Given the description of an element on the screen output the (x, y) to click on. 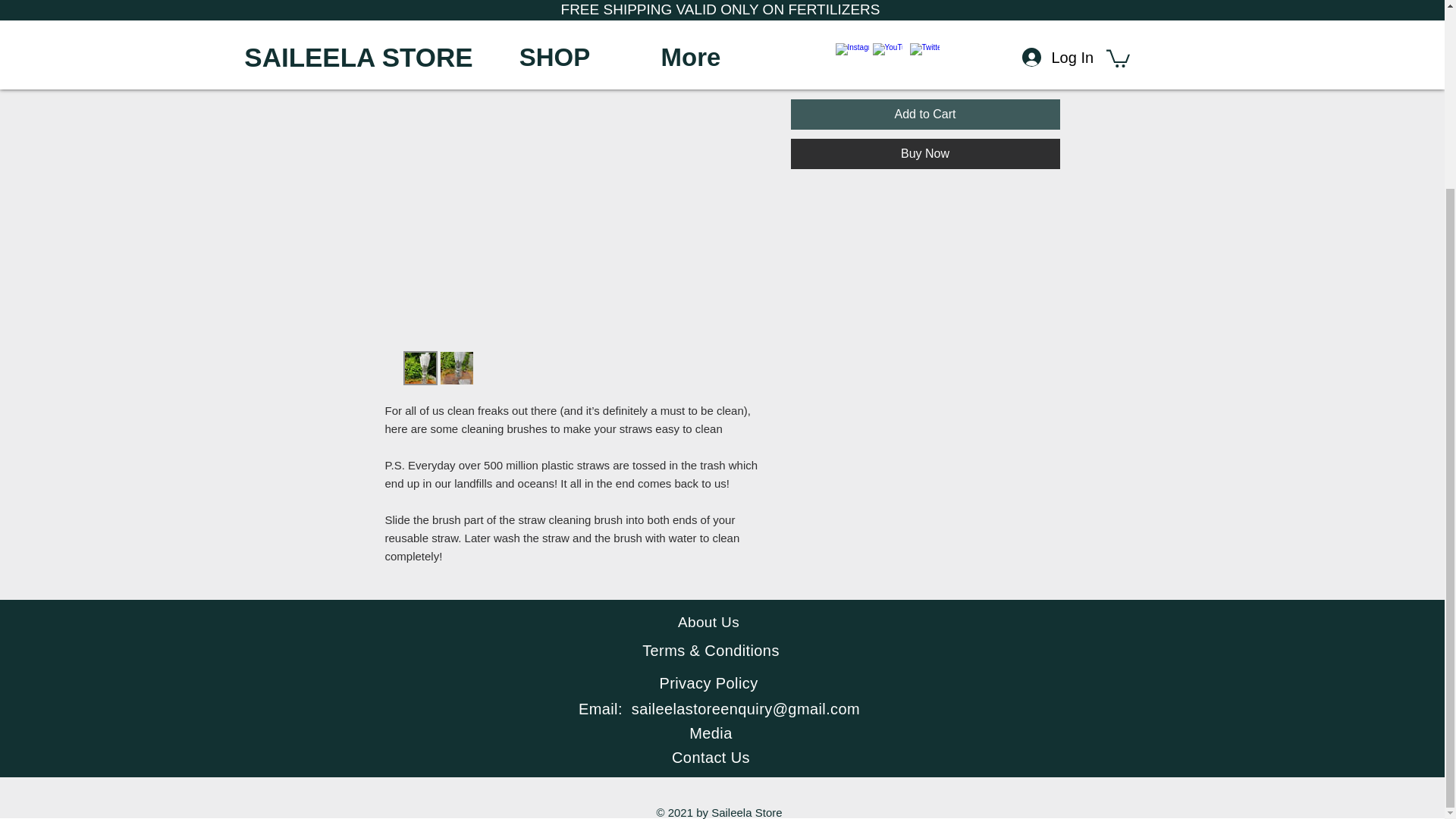
About Us (708, 621)
1 (818, 59)
Contact Us (710, 757)
Media (710, 733)
Buy Now (924, 153)
Add to Cart (924, 114)
Privacy Policy (708, 682)
